Given the description of an element on the screen output the (x, y) to click on. 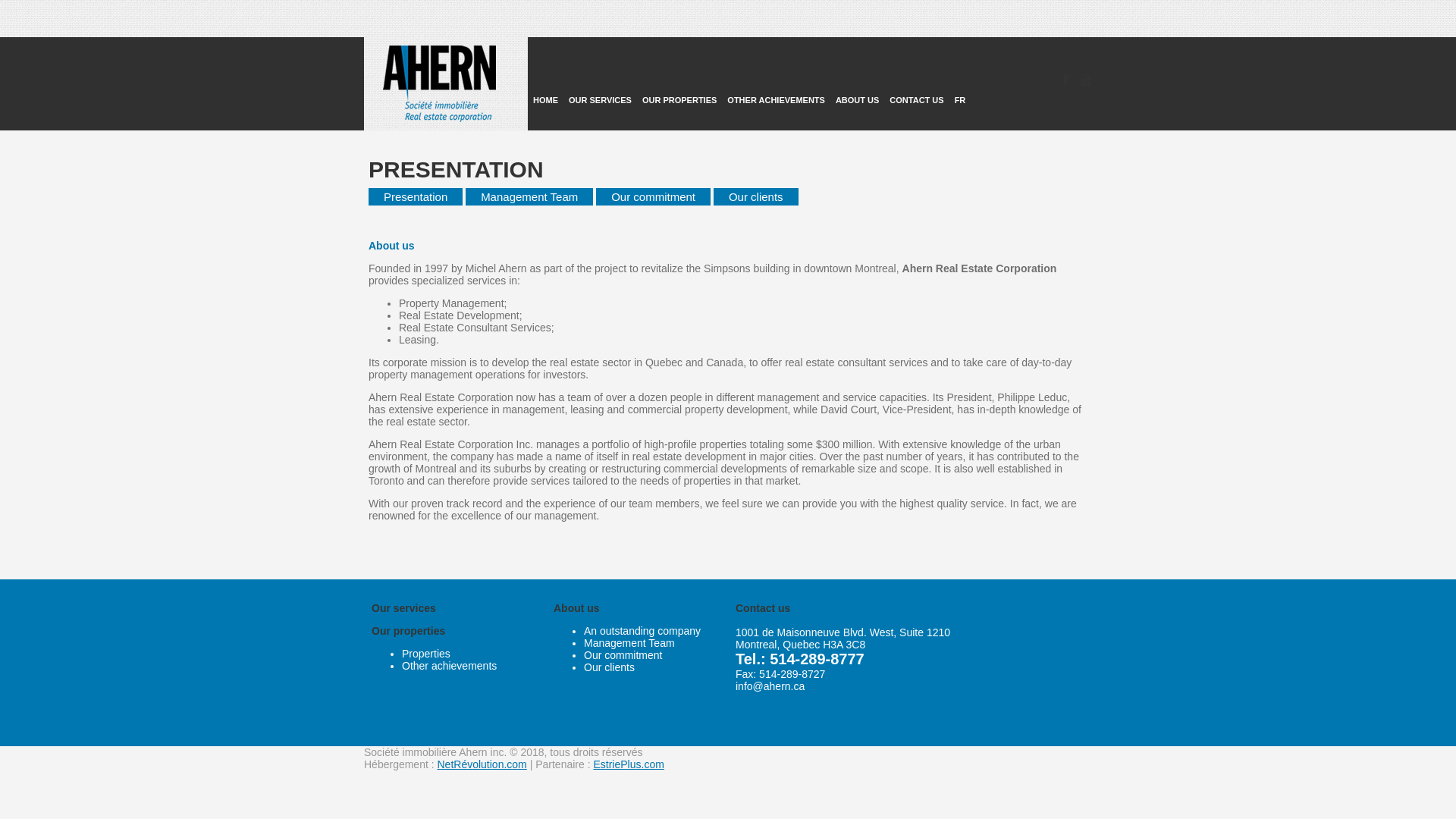
Properties Element type: text (425, 653)
Management Team Element type: text (628, 643)
Presentation Element type: text (415, 196)
OUR SERVICES Element type: text (600, 72)
OUR PROPERTIES Element type: text (679, 72)
Our commitment Element type: text (622, 655)
Our clients Element type: text (608, 667)
Our clients Element type: text (755, 196)
Contact us Element type: text (762, 608)
CONTACT US Element type: text (916, 72)
FR Element type: text (960, 72)
An outstanding company Element type: text (641, 630)
Our properties Element type: text (408, 630)
Other achievements Element type: text (448, 665)
HOME Element type: text (545, 72)
OTHER ACHIEVEMENTS Element type: text (775, 72)
Management Team Element type: text (529, 196)
Our services Element type: text (403, 608)
EstriePlus.com Element type: text (628, 764)
ABOUT US Element type: text (857, 72)
info@ahern.ca Element type: text (769, 686)
About us Element type: text (576, 608)
Our commitment Element type: text (653, 196)
